Given the description of an element on the screen output the (x, y) to click on. 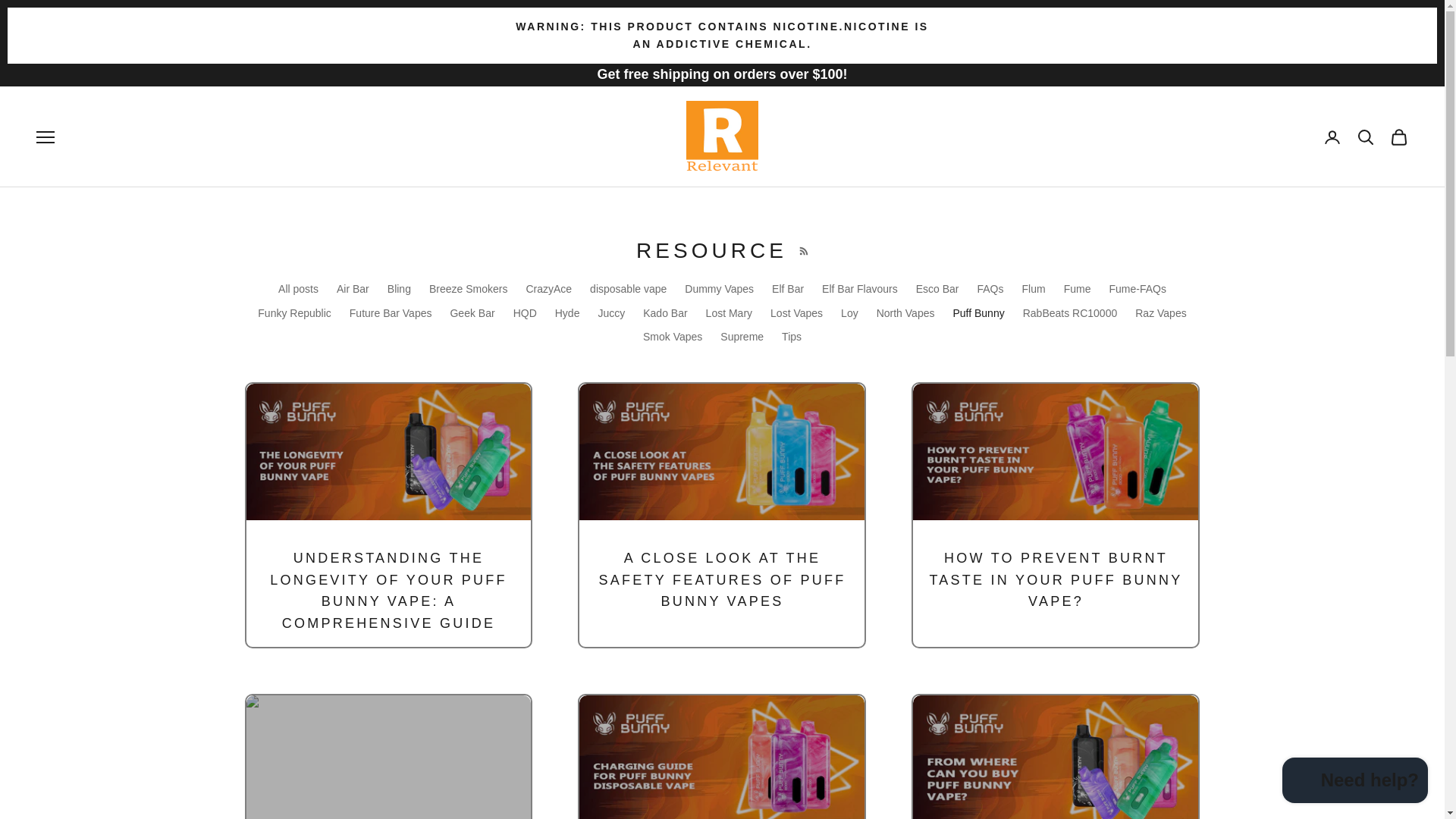
Show articles tagged Funky Republic (294, 313)
Show articles tagged Future Bar Vapes (390, 313)
Show articles tagged disposable vape (627, 288)
Show articles tagged HQD (525, 313)
Show articles tagged Fume-FAQs (1137, 288)
Show articles tagged Breeze Smokers (467, 288)
Show articles tagged Elf Bar Flavours (860, 288)
Show articles tagged Esco Bar (937, 288)
Open navigation menu (45, 136)
RSS feed (803, 250)
Show articles tagged Flum (1033, 288)
Bling (398, 288)
Show articles tagged Dummy Vapes (719, 288)
Show articles tagged Fume (1077, 288)
Show articles tagged Air Bar (352, 288)
